Given the description of an element on the screen output the (x, y) to click on. 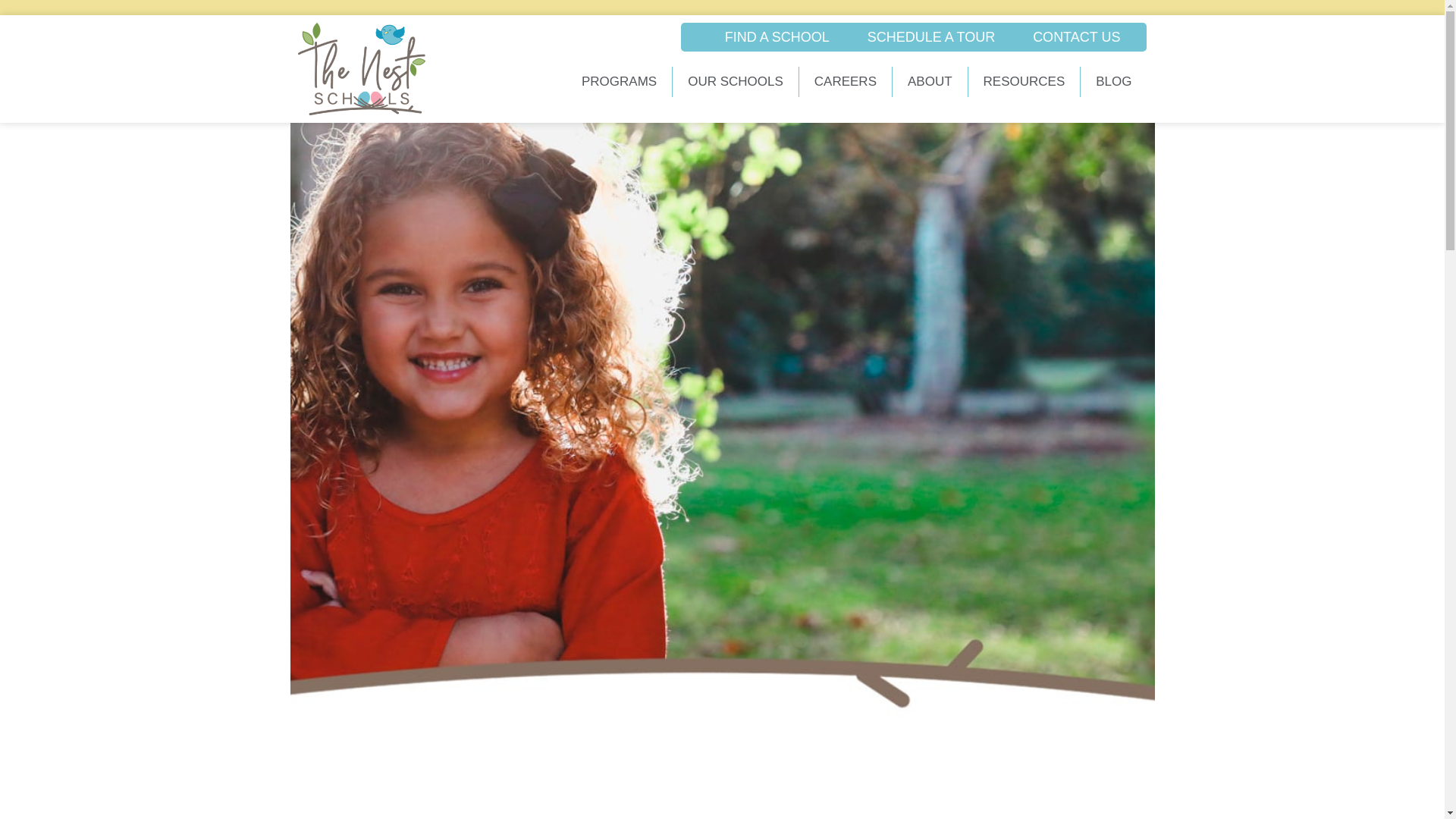
CAREERS (845, 81)
RESOURCES (1024, 81)
SCHEDULE A TOUR (930, 37)
CONTACT US (1075, 37)
PROGRAMS (619, 81)
BLOG (1113, 81)
OUR SCHOOLS (735, 81)
ABOUT (930, 81)
FIND A SCHOOL (777, 37)
